Given the description of an element on the screen output the (x, y) to click on. 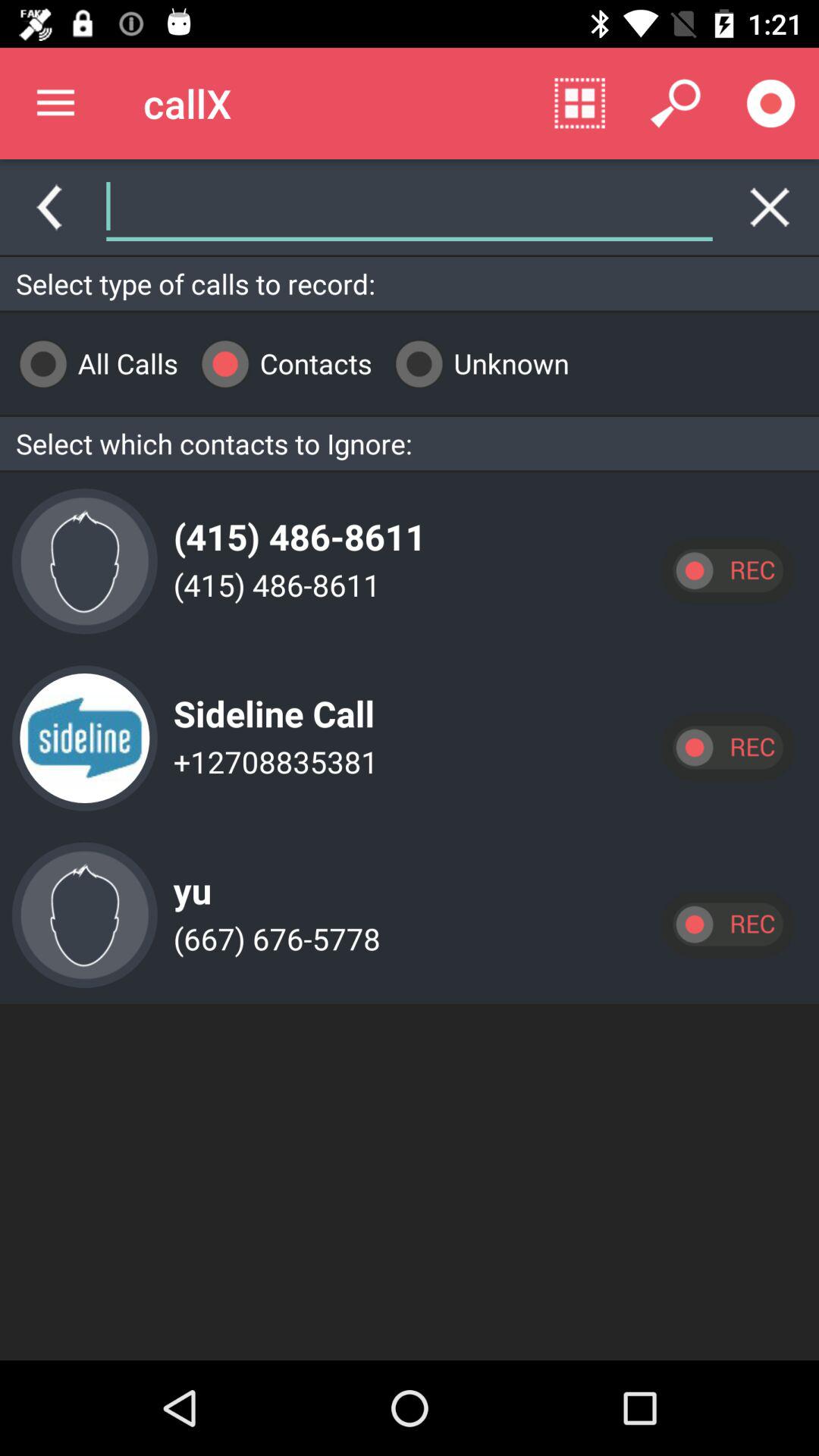
search contact (409, 206)
